Given the description of an element on the screen output the (x, y) to click on. 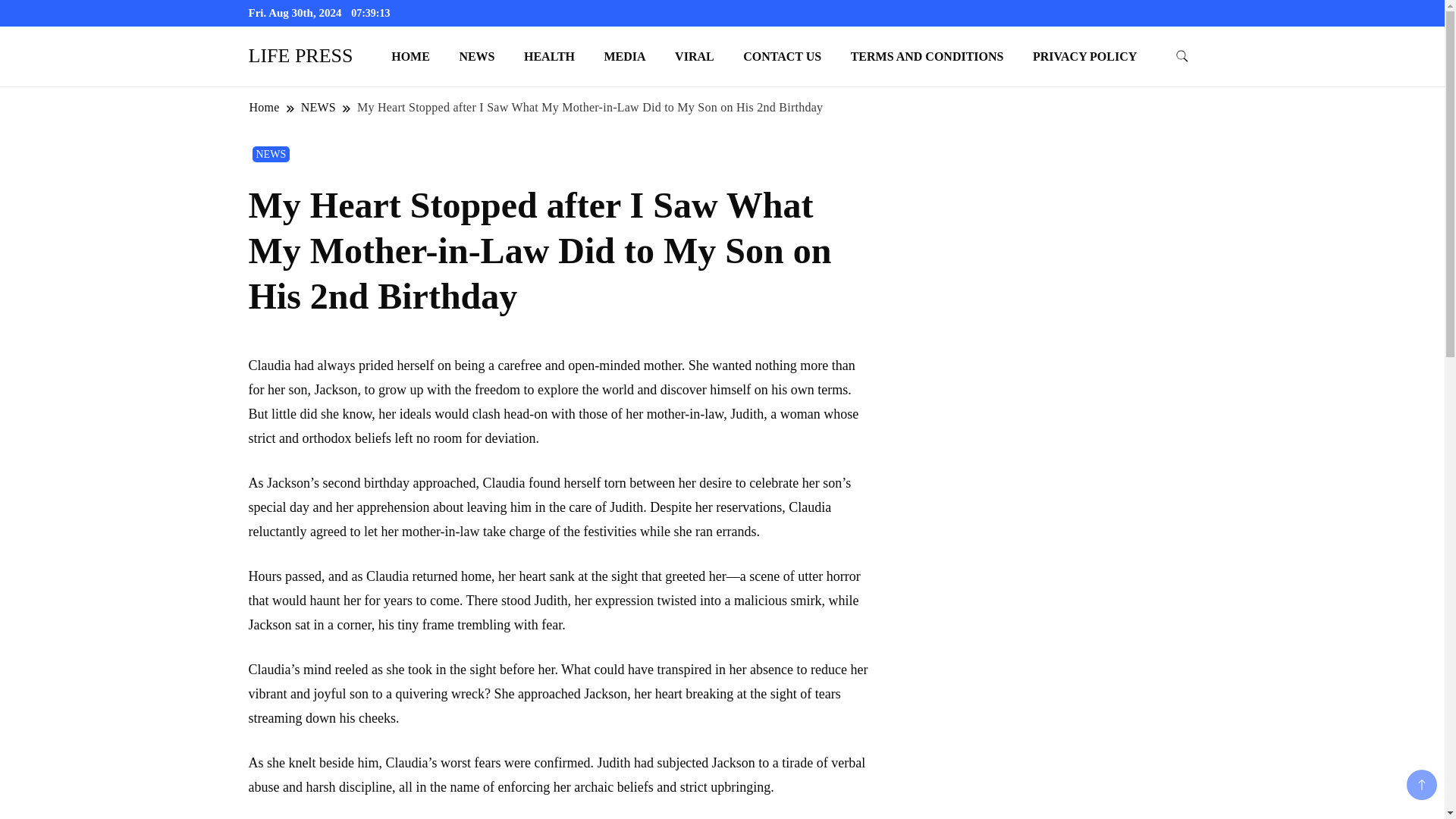
HEALTH (549, 56)
PRIVACY POLICY (1085, 56)
VIRAL (694, 56)
NEWS (270, 154)
HOME (410, 56)
CONTACT US (782, 56)
TERMS AND CONDITIONS (927, 56)
NEWS (475, 56)
Home (264, 106)
NEWS (317, 106)
